Given the description of an element on the screen output the (x, y) to click on. 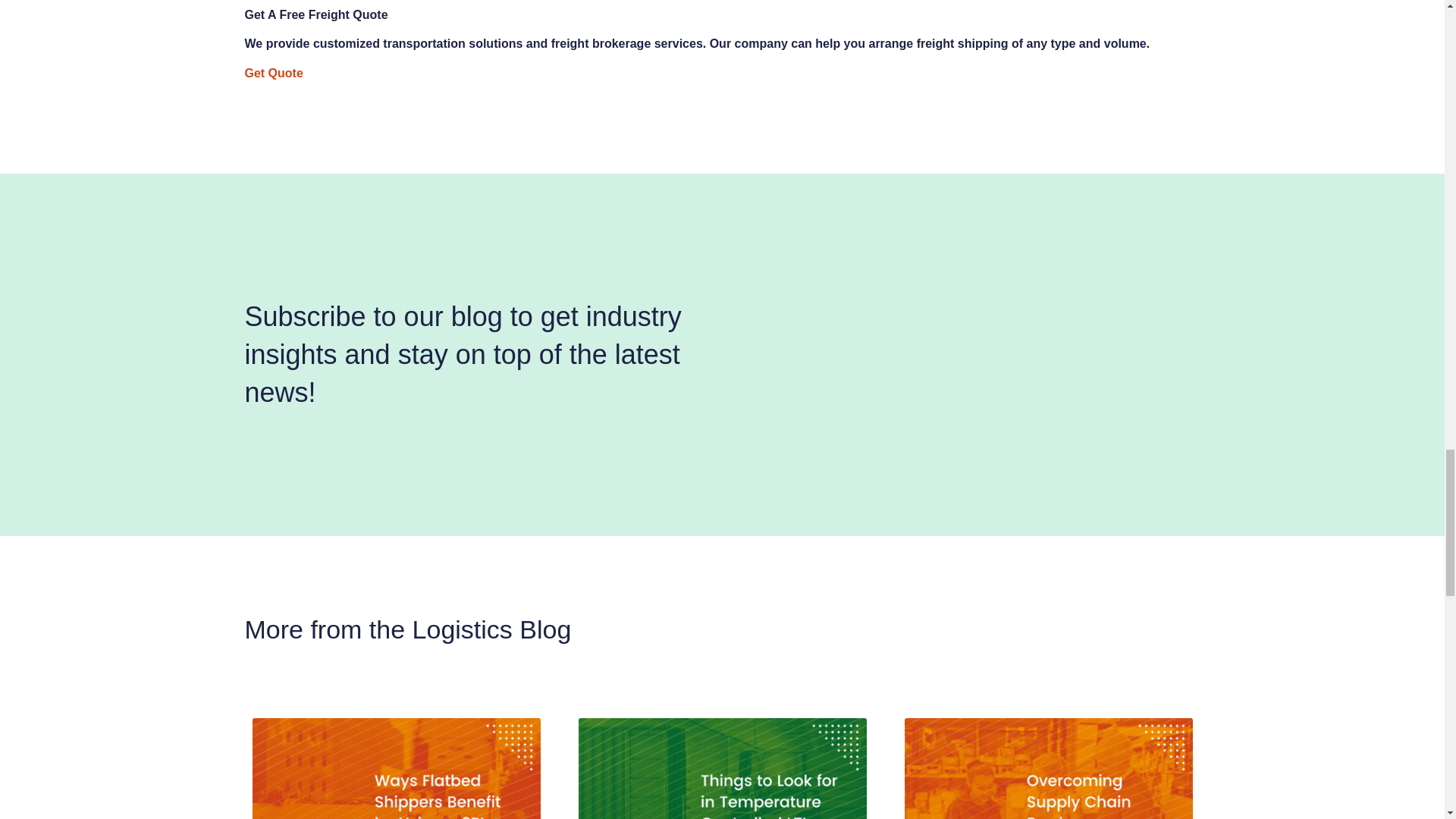
Form 0 (964, 354)
